Given the description of an element on the screen output the (x, y) to click on. 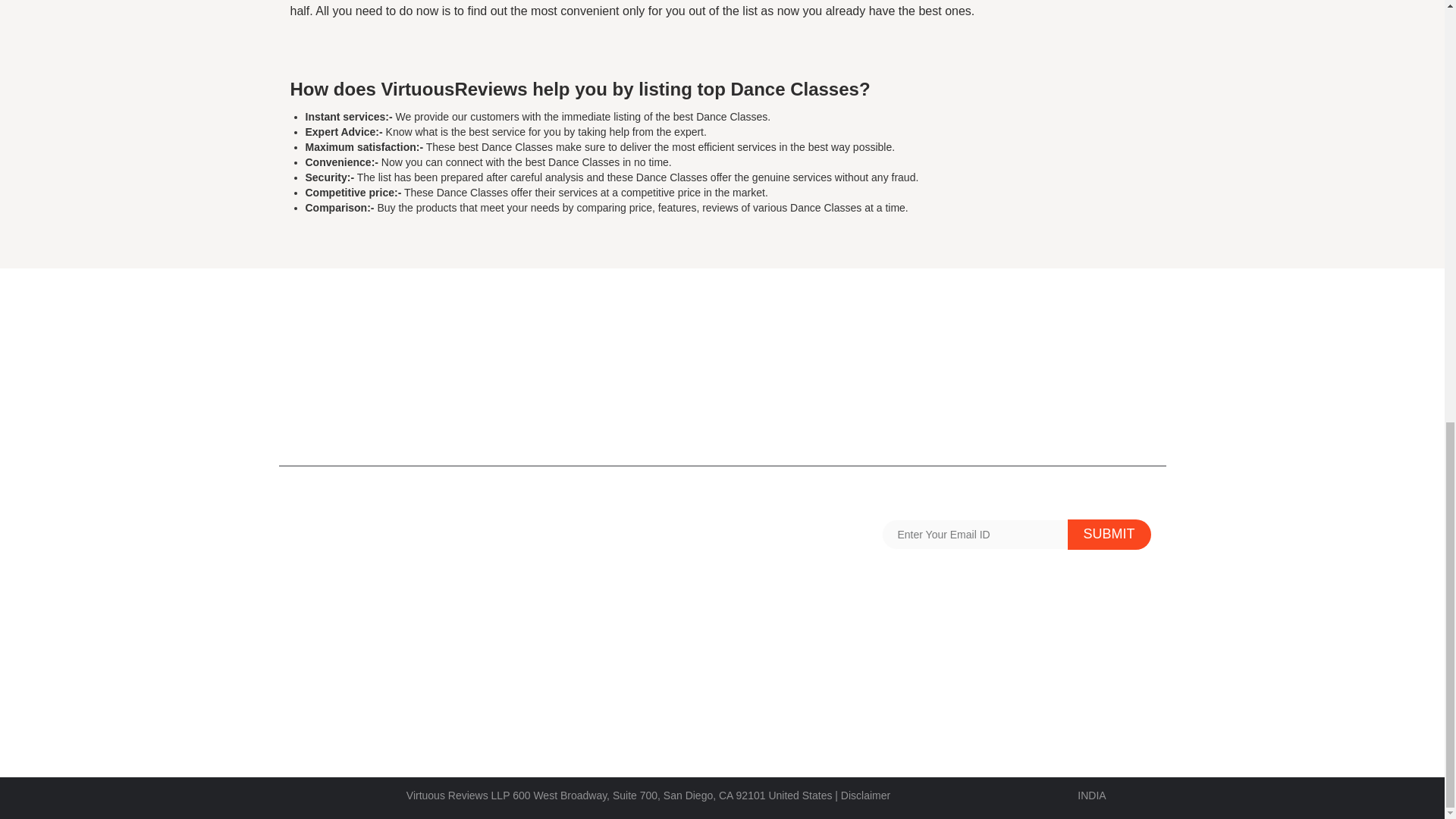
What we do (761, 625)
Who we are (317, 716)
